Given the description of an element on the screen output the (x, y) to click on. 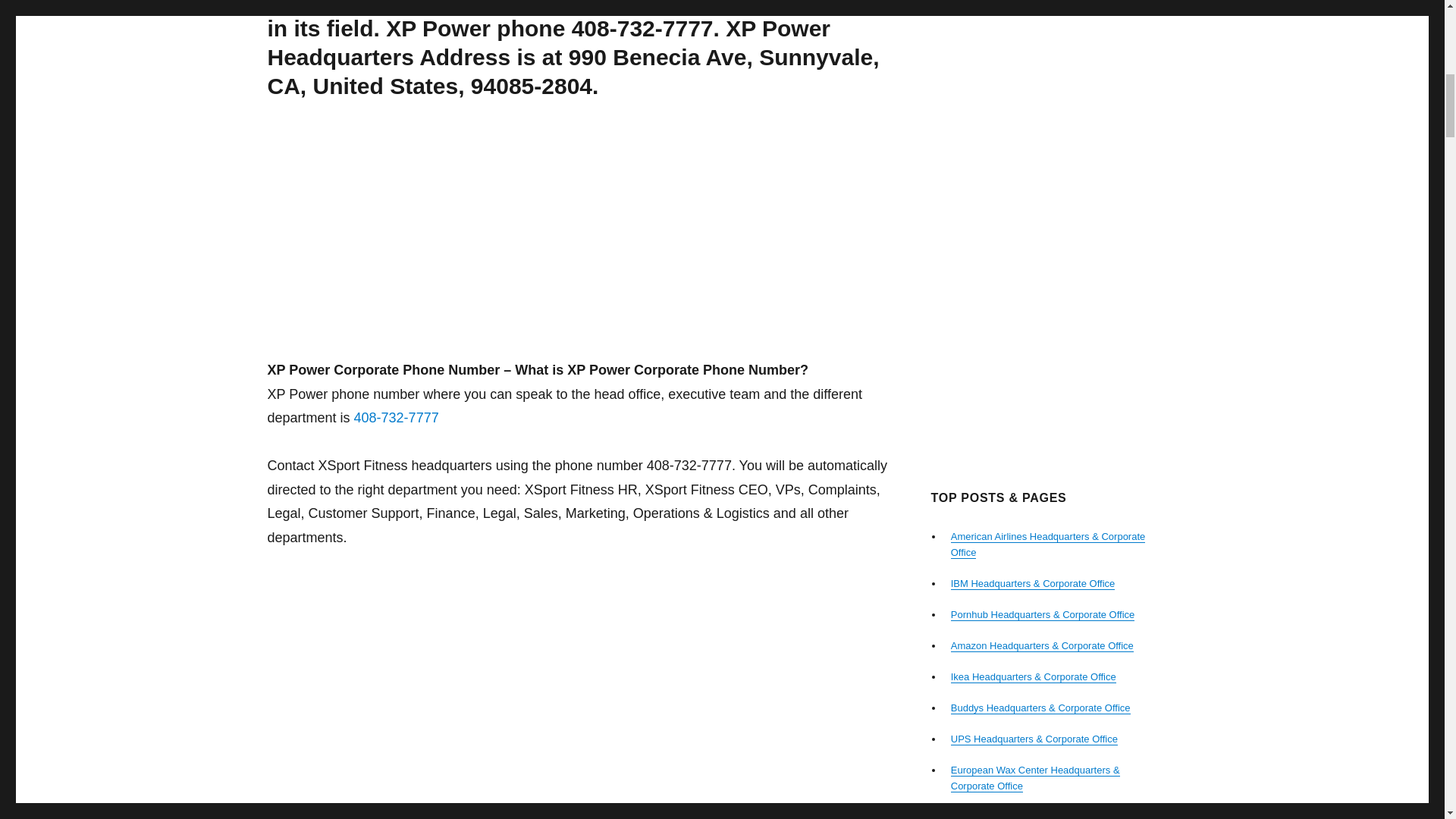
408-732-7777 (396, 417)
